Given the description of an element on the screen output the (x, y) to click on. 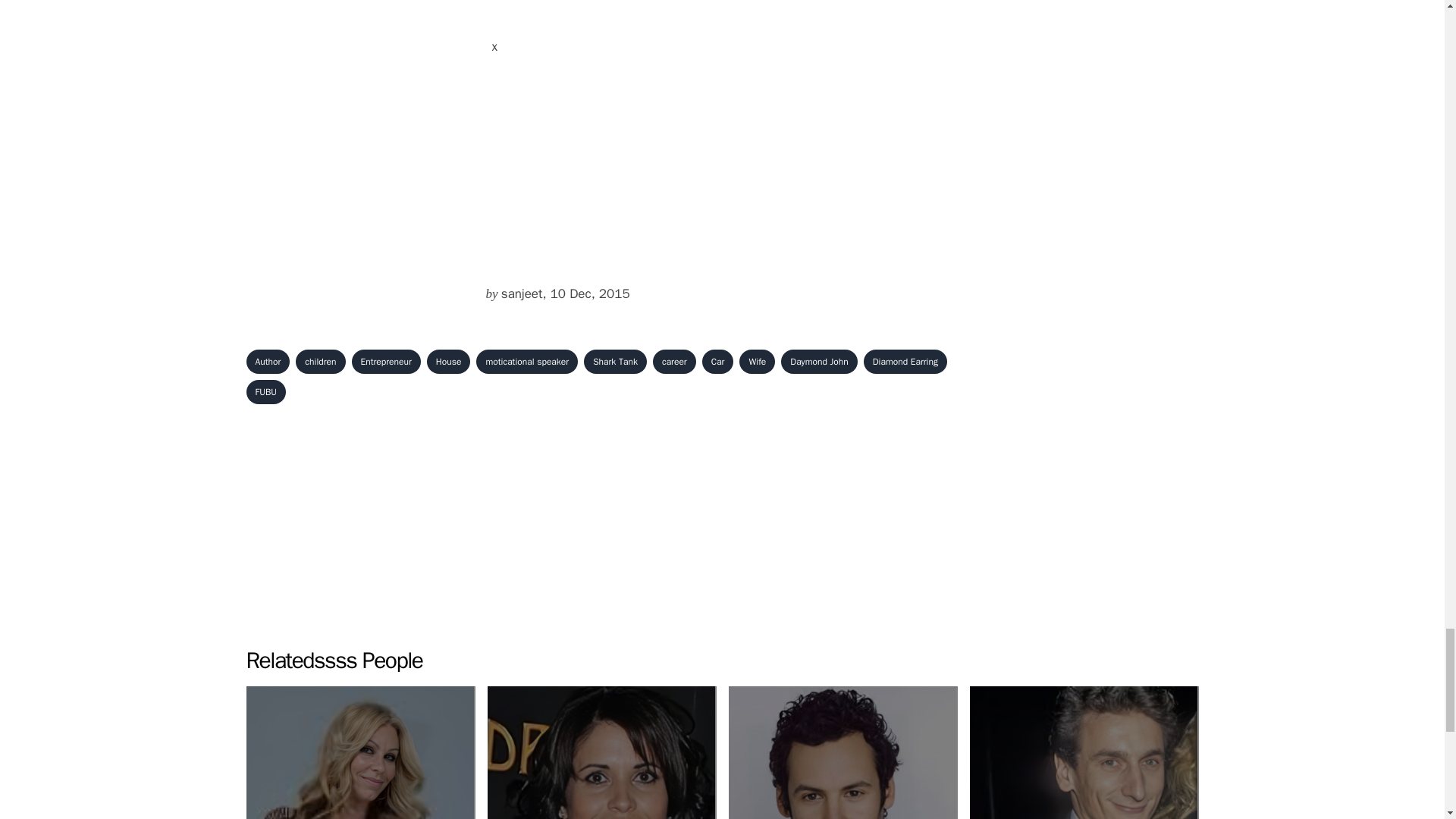
Car (601, 752)
Author (360, 752)
House (717, 361)
Entrepreneur (267, 361)
moticational speaker (448, 361)
Diamond Earring (386, 361)
FUBU (527, 361)
career (905, 361)
